Given the description of an element on the screen output the (x, y) to click on. 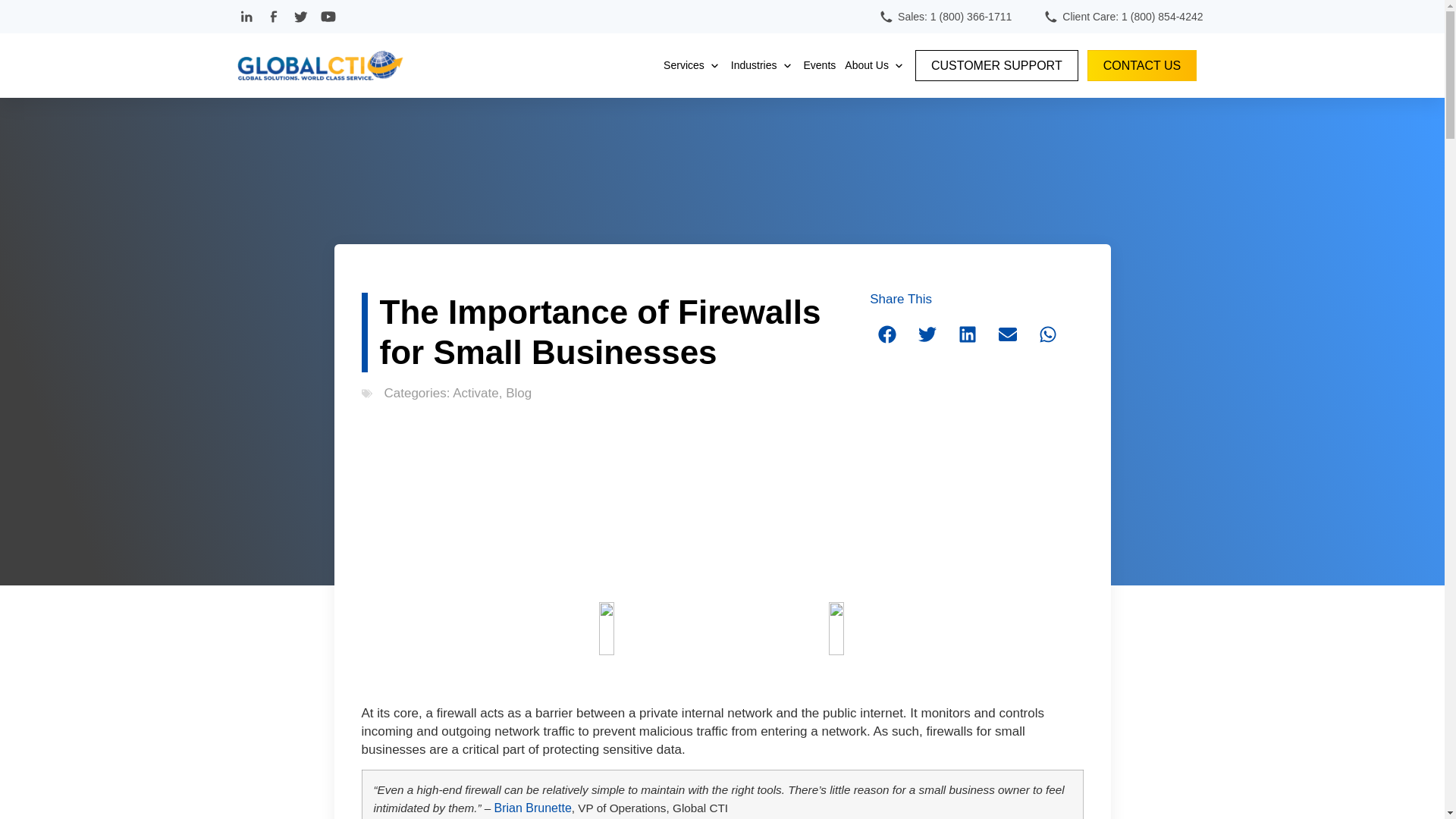
Industries (753, 65)
About Us (866, 65)
Events (819, 65)
Services (683, 65)
